Given the description of an element on the screen output the (x, y) to click on. 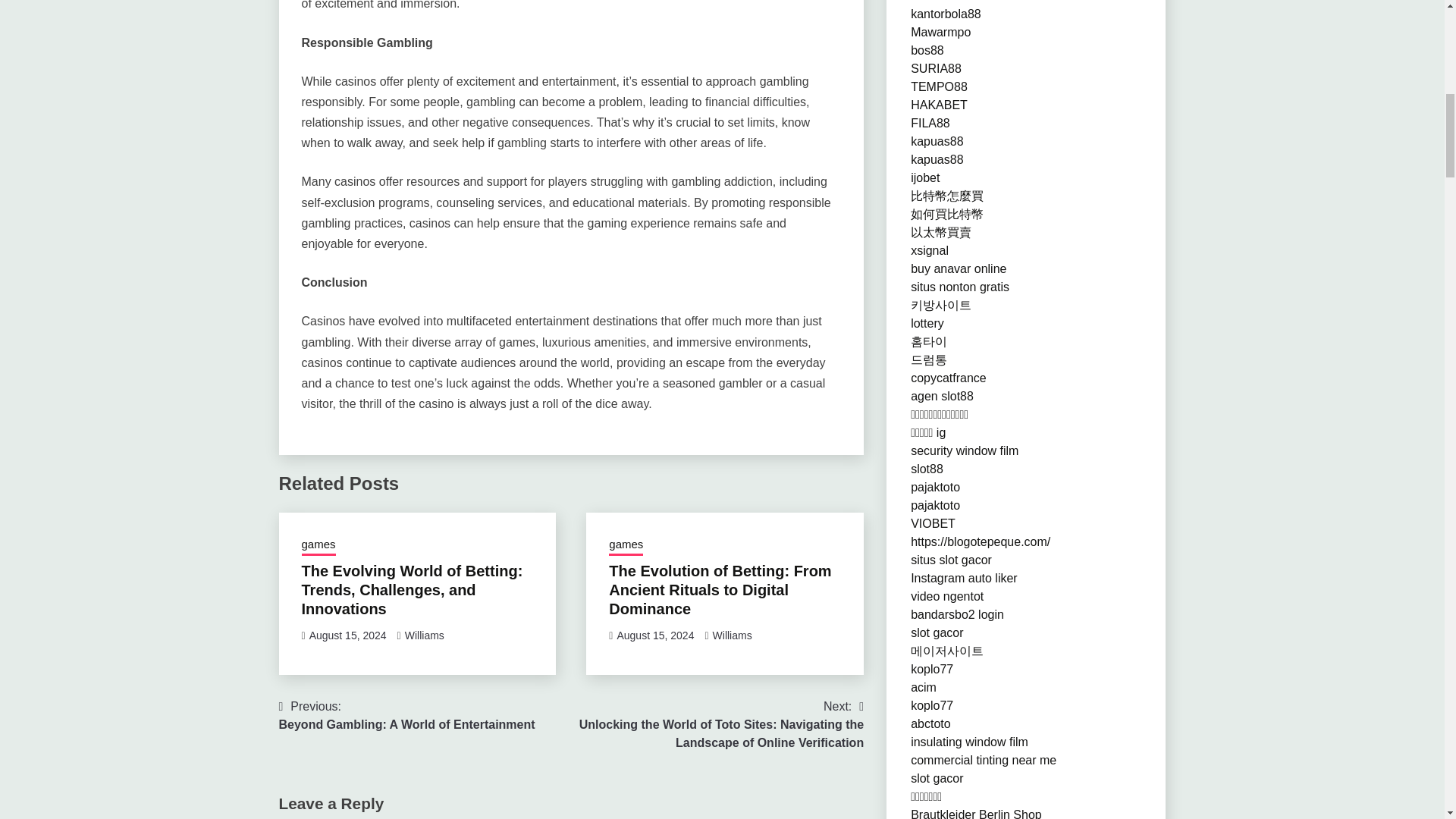
Williams (732, 635)
games (625, 546)
August 15, 2024 (347, 635)
games (318, 546)
August 15, 2024 (654, 635)
Williams (424, 635)
